Given the description of an element on the screen output the (x, y) to click on. 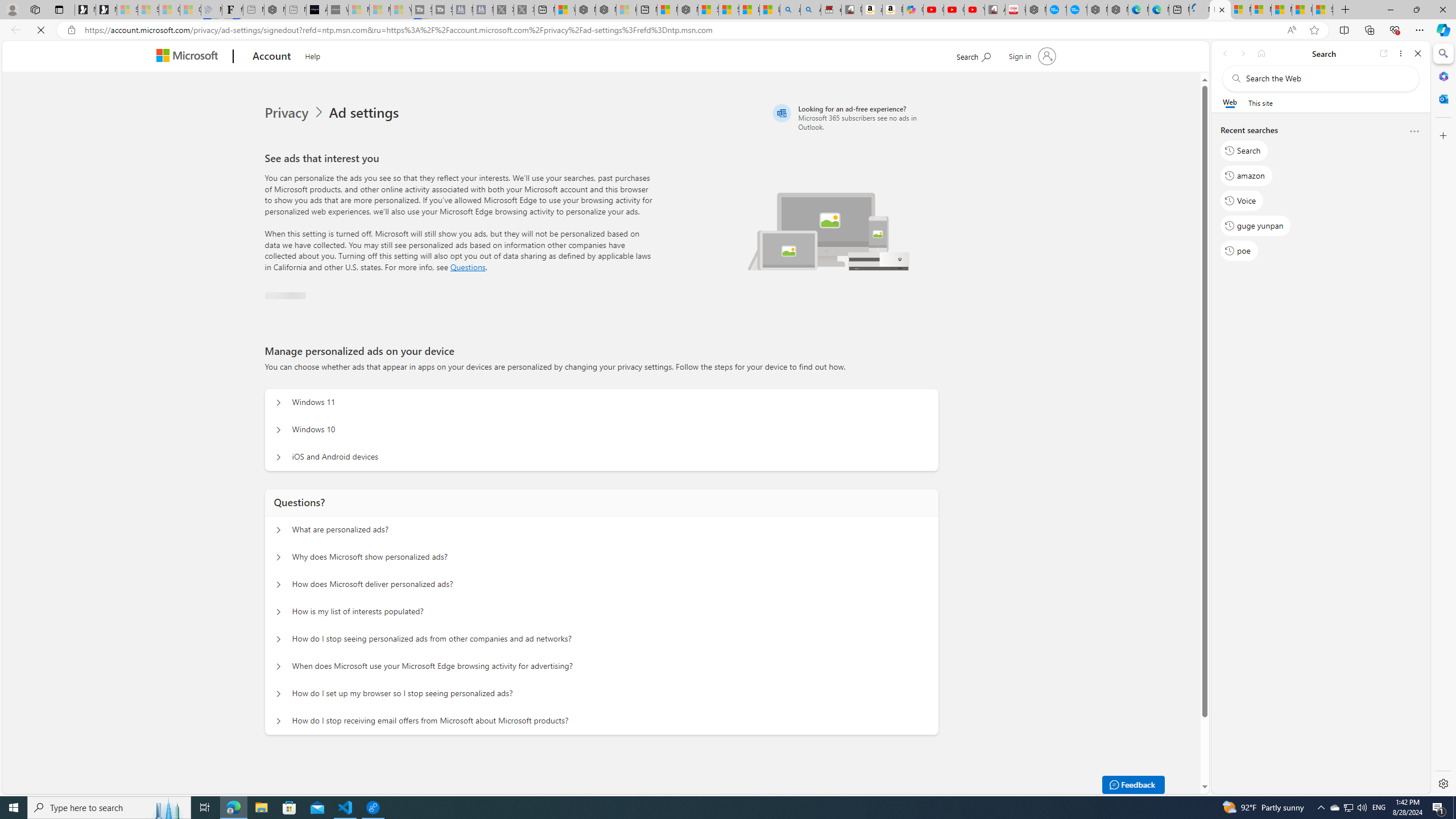
What's the best AI voice generator? - voice.ai - Sleeping (337, 9)
AI Voice Changer for PC and Mac - Voice.ai (316, 9)
amazon.in/dp/B0CX59H5W7/?tag=gsmcom05-21 (871, 9)
Microsoft 365 (1442, 76)
